Given the description of an element on the screen output the (x, y) to click on. 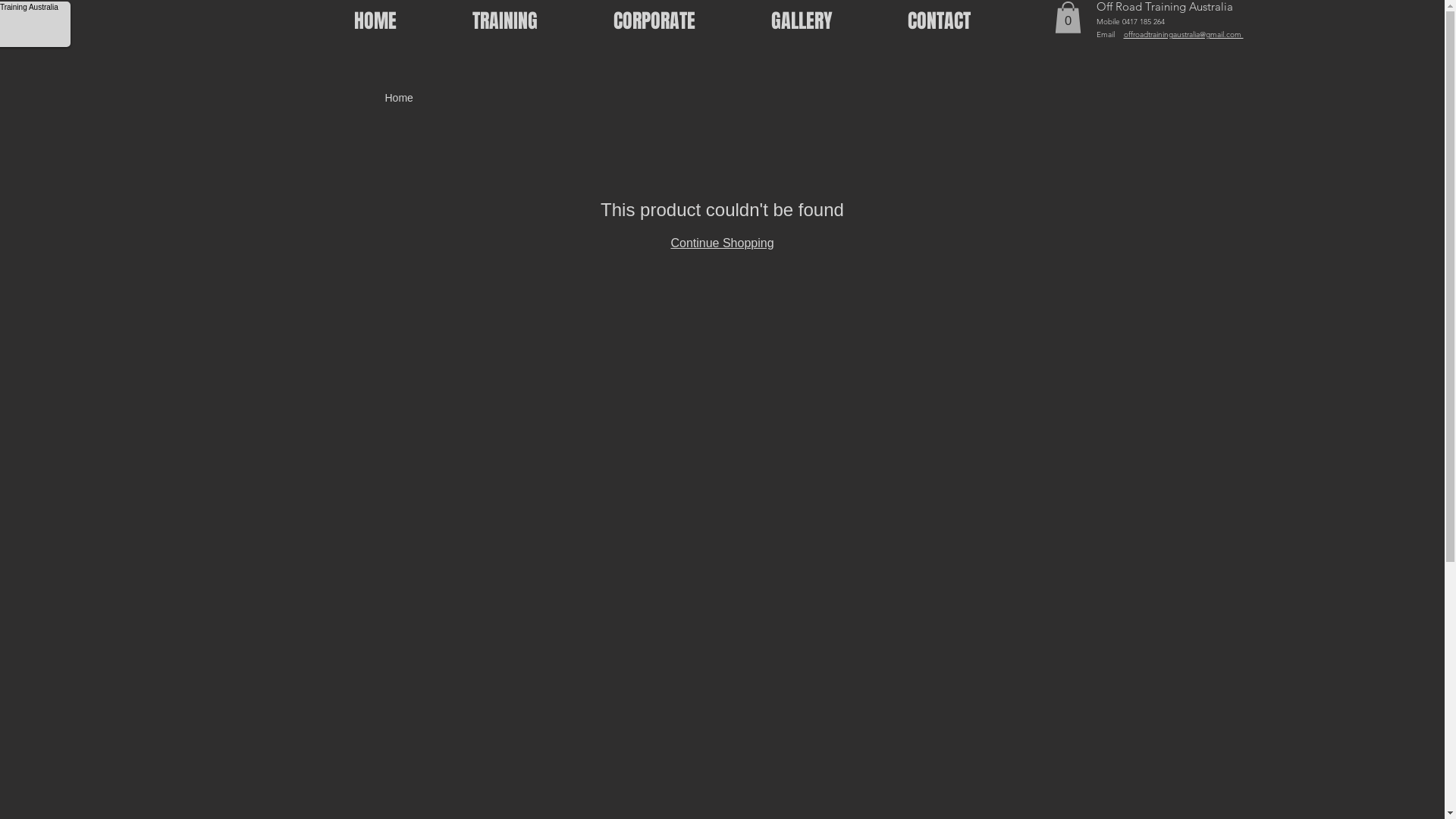
Continue Shopping Element type: text (721, 242)
Home Element type: text (399, 97)
offroadtrainingaustralia@gmail.com  Element type: text (1183, 34)
0 Element type: text (1067, 17)
